Given the description of an element on the screen output the (x, y) to click on. 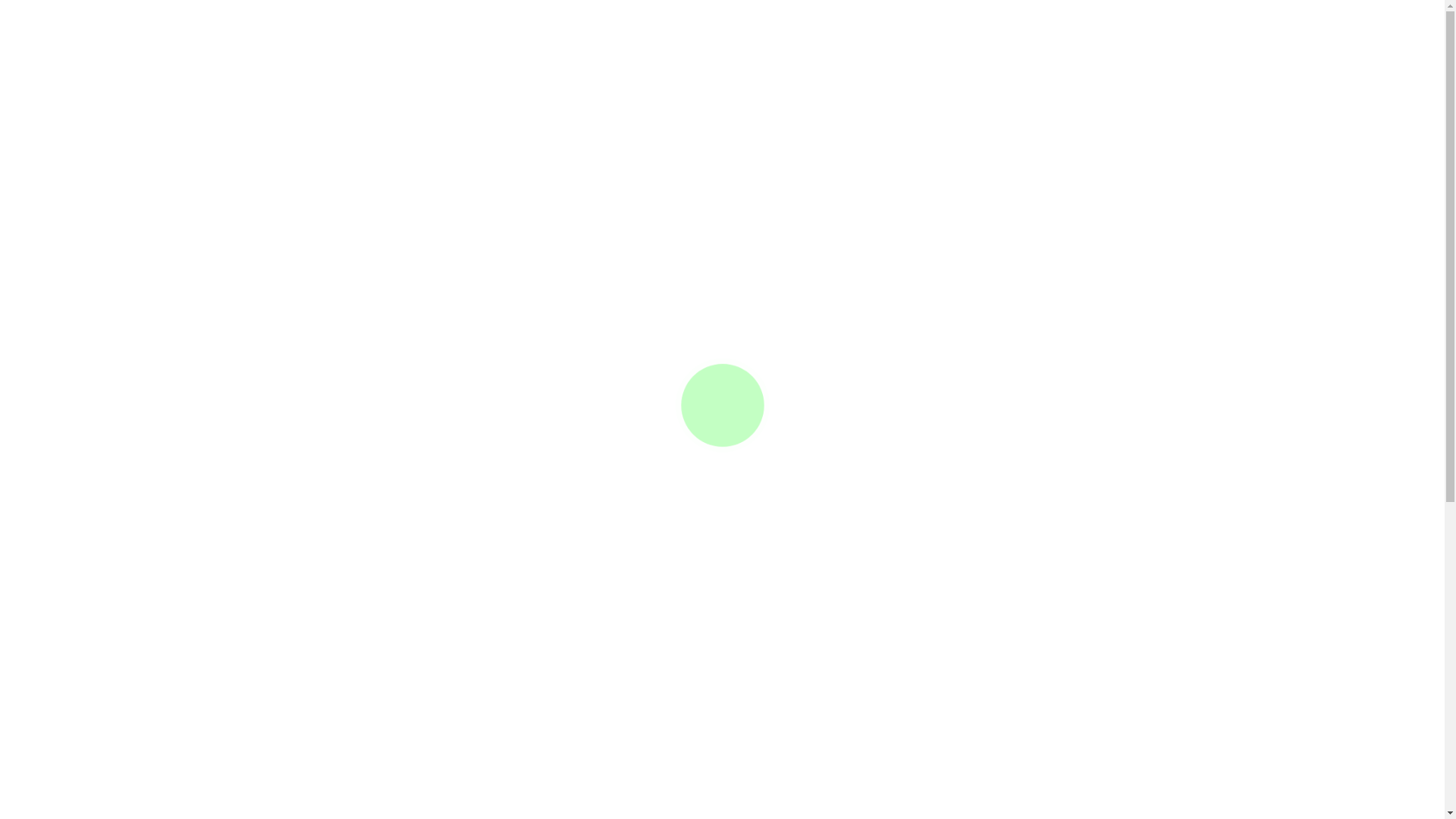
LOG IN Element type: text (355, 724)
Toggle Sliding Bar Area Element type: text (13, 109)
GALLERY Element type: text (946, 61)
Home Element type: text (686, 294)
NURSING COURSES Element type: text (848, 61)
Lost your password? Element type: text (511, 724)
BOOK A COURSE Element type: text (479, 61)
ABOUT Element type: text (1008, 61)
HOME Element type: text (380, 61)
FIRST AID COURSES Element type: text (615, 61)
